Given the description of an element on the screen output the (x, y) to click on. 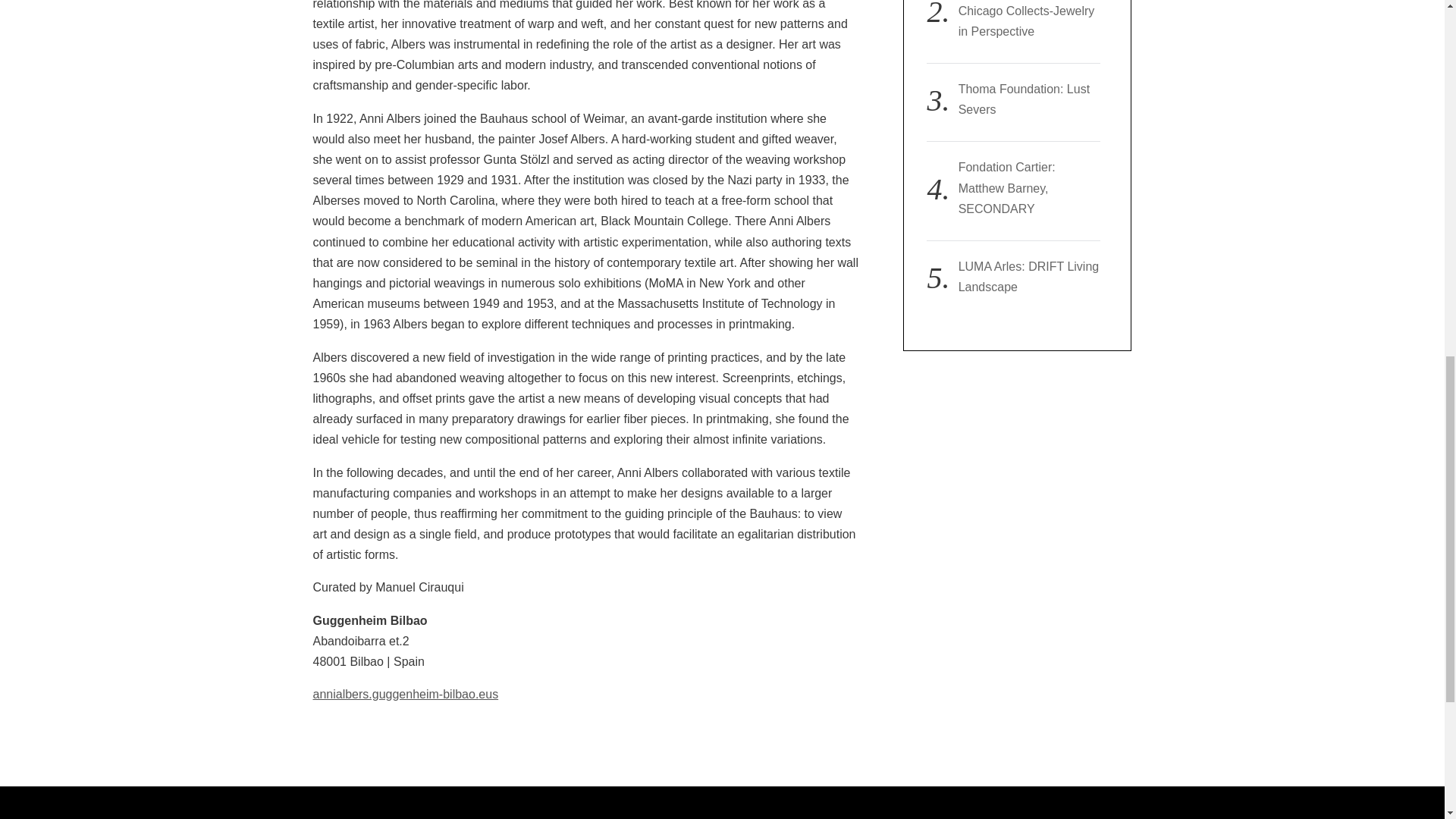
annialbers.guggenheim-bilbao.eus (405, 694)
Driehaus Museum: Chicago Collects-Jewelry in Perspective (1026, 18)
Thoma Foundation: Lust Severs (1023, 99)
